Given the description of an element on the screen output the (x, y) to click on. 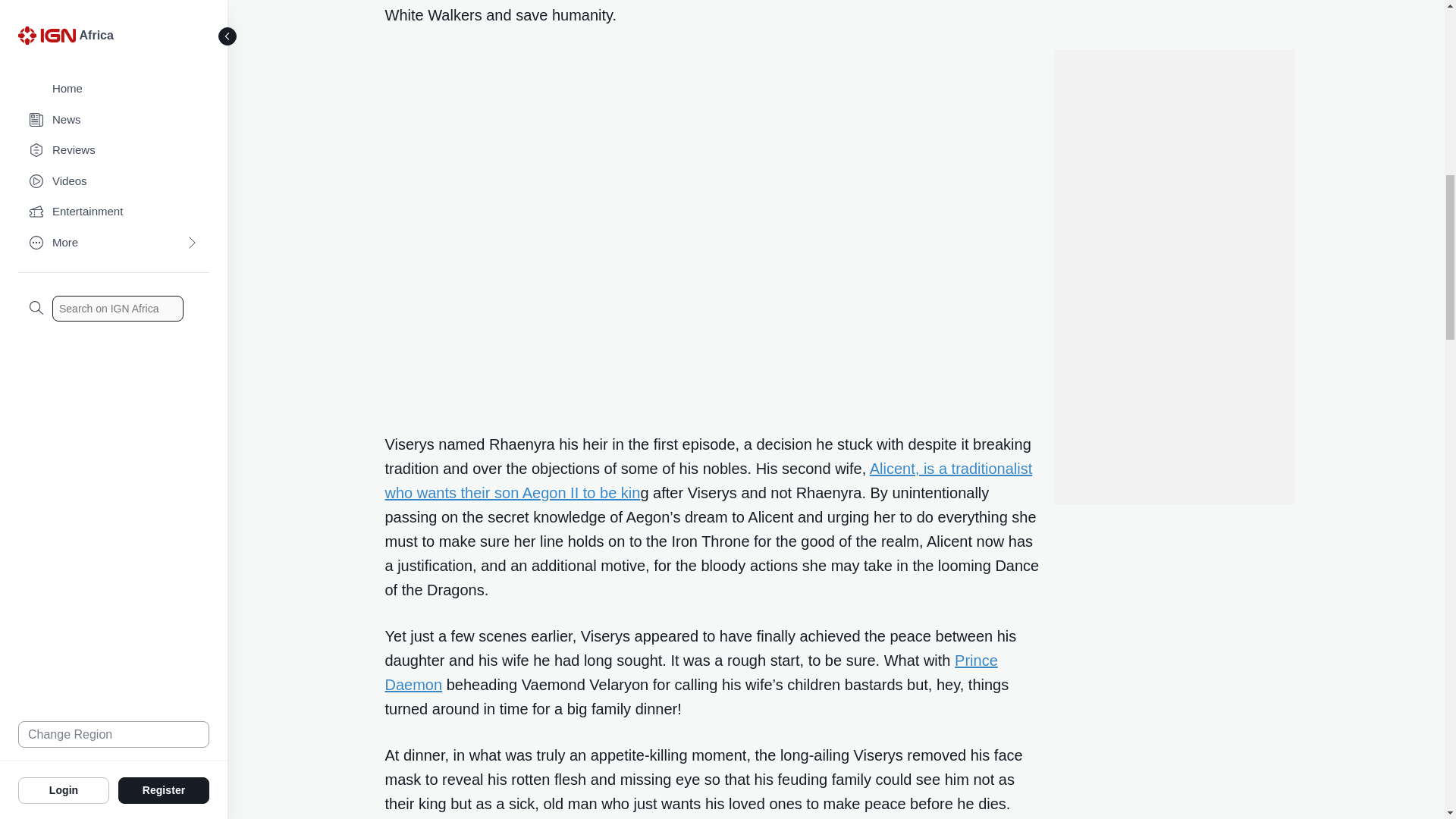
Prince Daemon (691, 671)
